Given the description of an element on the screen output the (x, y) to click on. 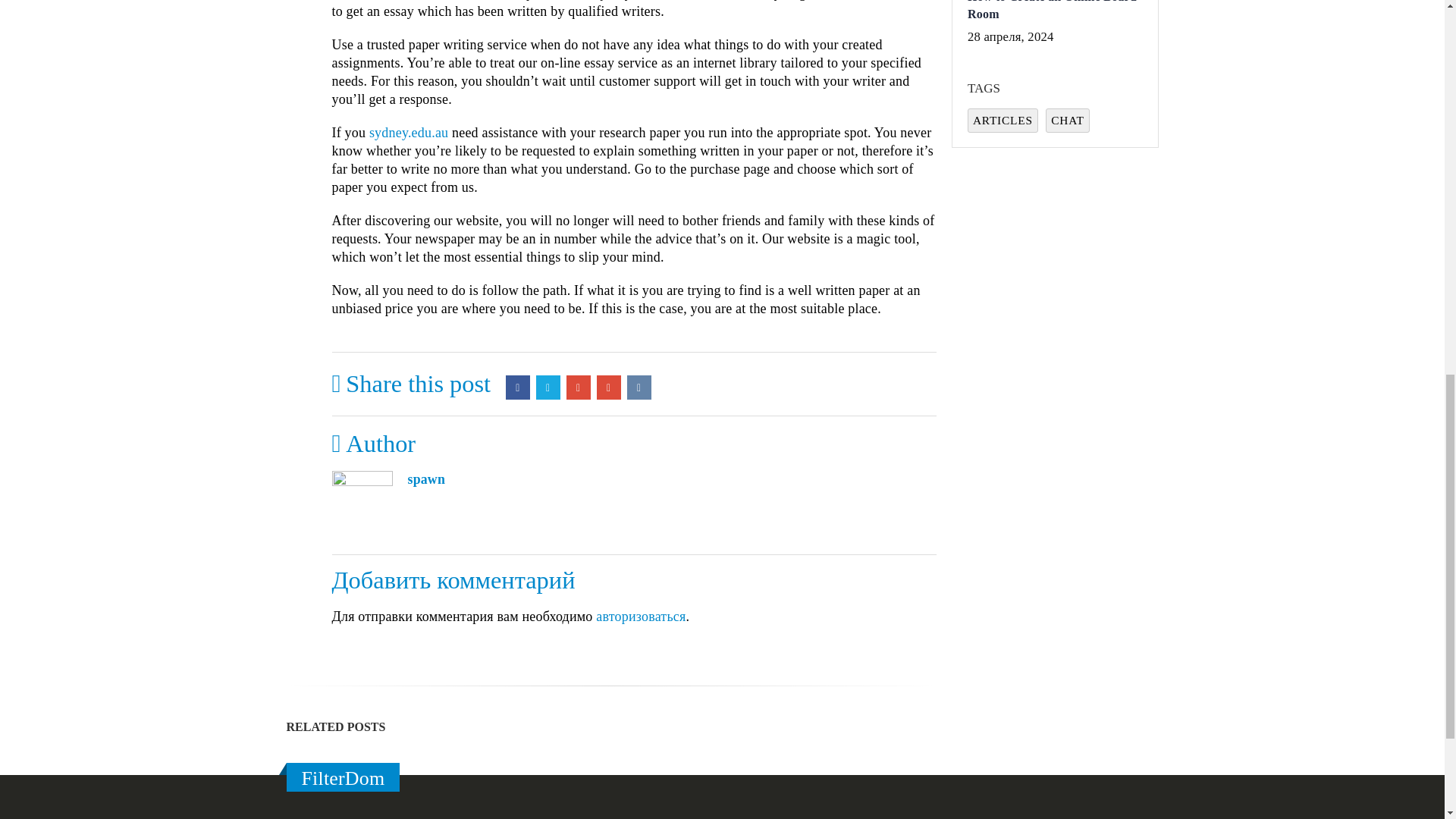
VK (638, 387)
Facebook (517, 387)
Email (608, 387)
Twitter (547, 387)
spawn (426, 478)
Email (608, 387)
Facebook (517, 387)
VK (638, 387)
sydney.edu.au (408, 132)
Twitter (547, 387)
